Given the description of an element on the screen output the (x, y) to click on. 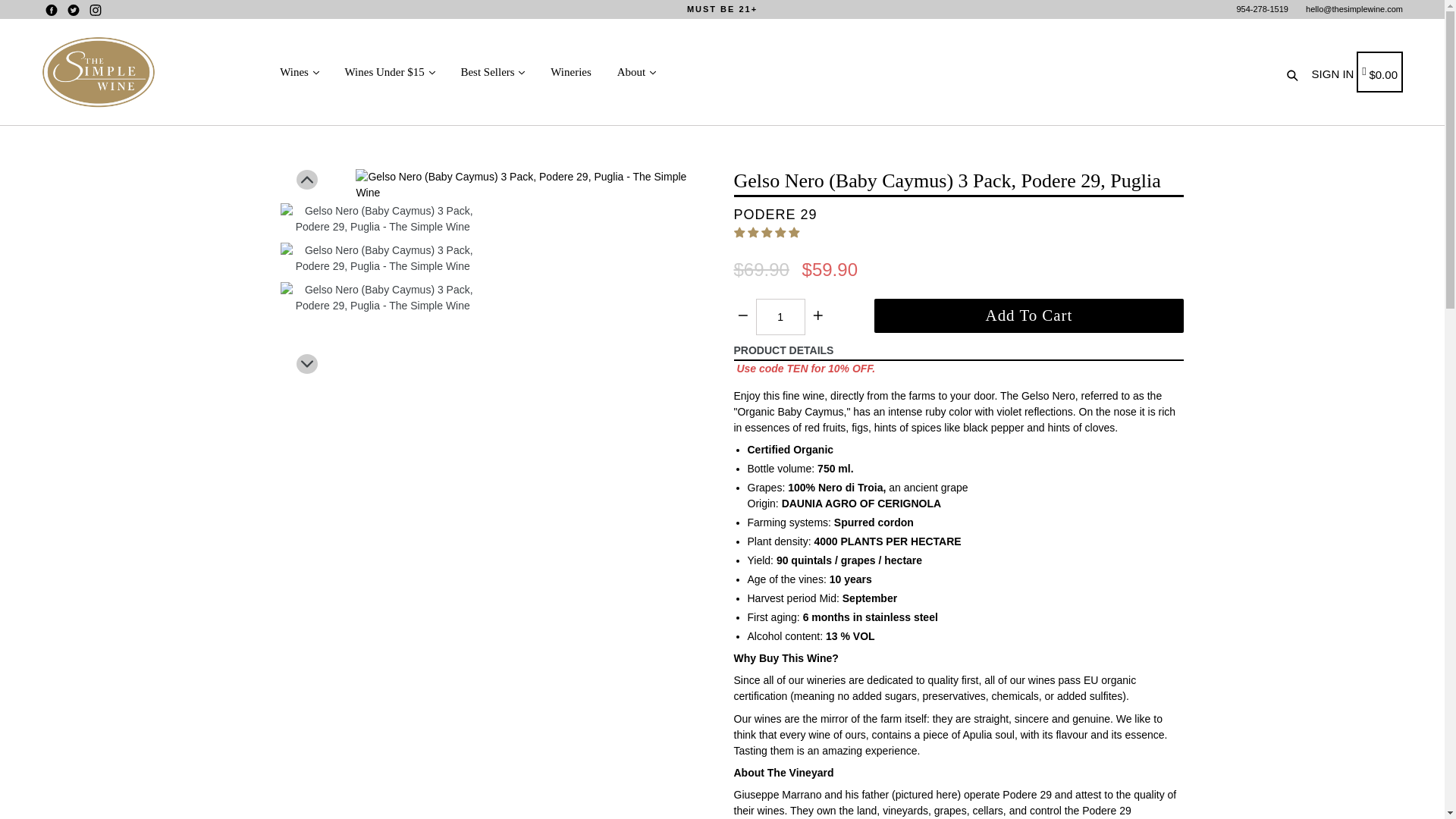
The Simple Wine on Instagram (94, 10)
1 (780, 316)
The Simple Wine on Facebook (51, 10)
The Simple Wine on Twitter (73, 10)
